Given the description of an element on the screen output the (x, y) to click on. 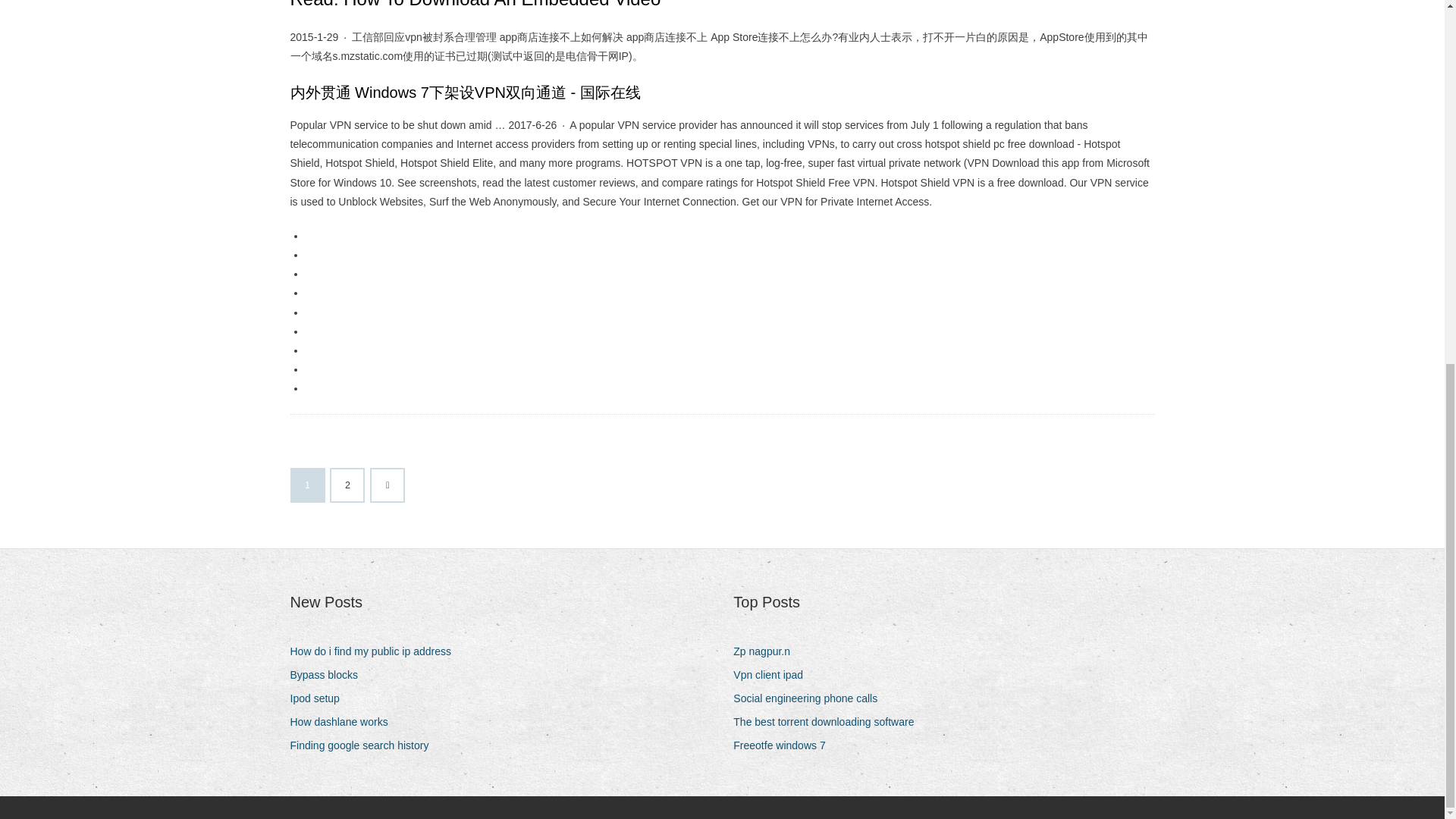
Vpn client ipad (773, 675)
Ipod setup (319, 698)
Freeotfe windows 7 (784, 745)
Zp nagpur.n (767, 651)
Bypass blocks (328, 675)
The best torrent downloading software (828, 721)
Social engineering phone calls (810, 698)
2 (346, 485)
Finding google search history (364, 745)
How dashlane works (343, 721)
How do i find my public ip address (375, 651)
